Given the description of an element on the screen output the (x, y) to click on. 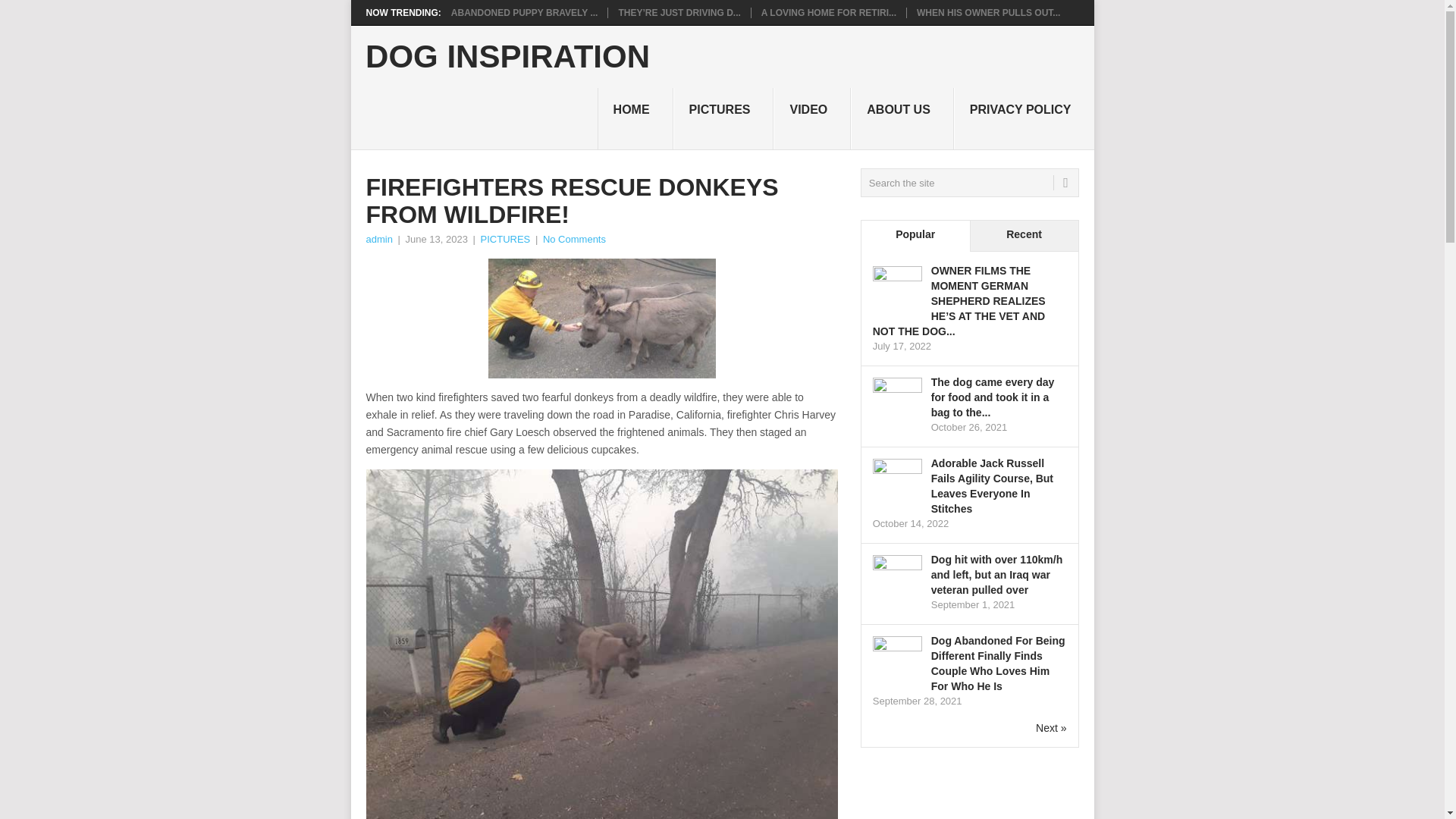
DOG INSPIRATION (507, 56)
Posts by admin (378, 238)
Popular (915, 235)
HOME (634, 118)
ABOUT US (901, 118)
Search the site (969, 182)
PICTURES (723, 118)
admin (378, 238)
PRIVACY POLICY (1023, 118)
WHEN HIS OWNER PULLS OUT... (988, 12)
VIDEO (811, 118)
ABANDONED PUPPY BRAVELY ... (524, 12)
No Comments (574, 238)
